Given the description of an element on the screen output the (x, y) to click on. 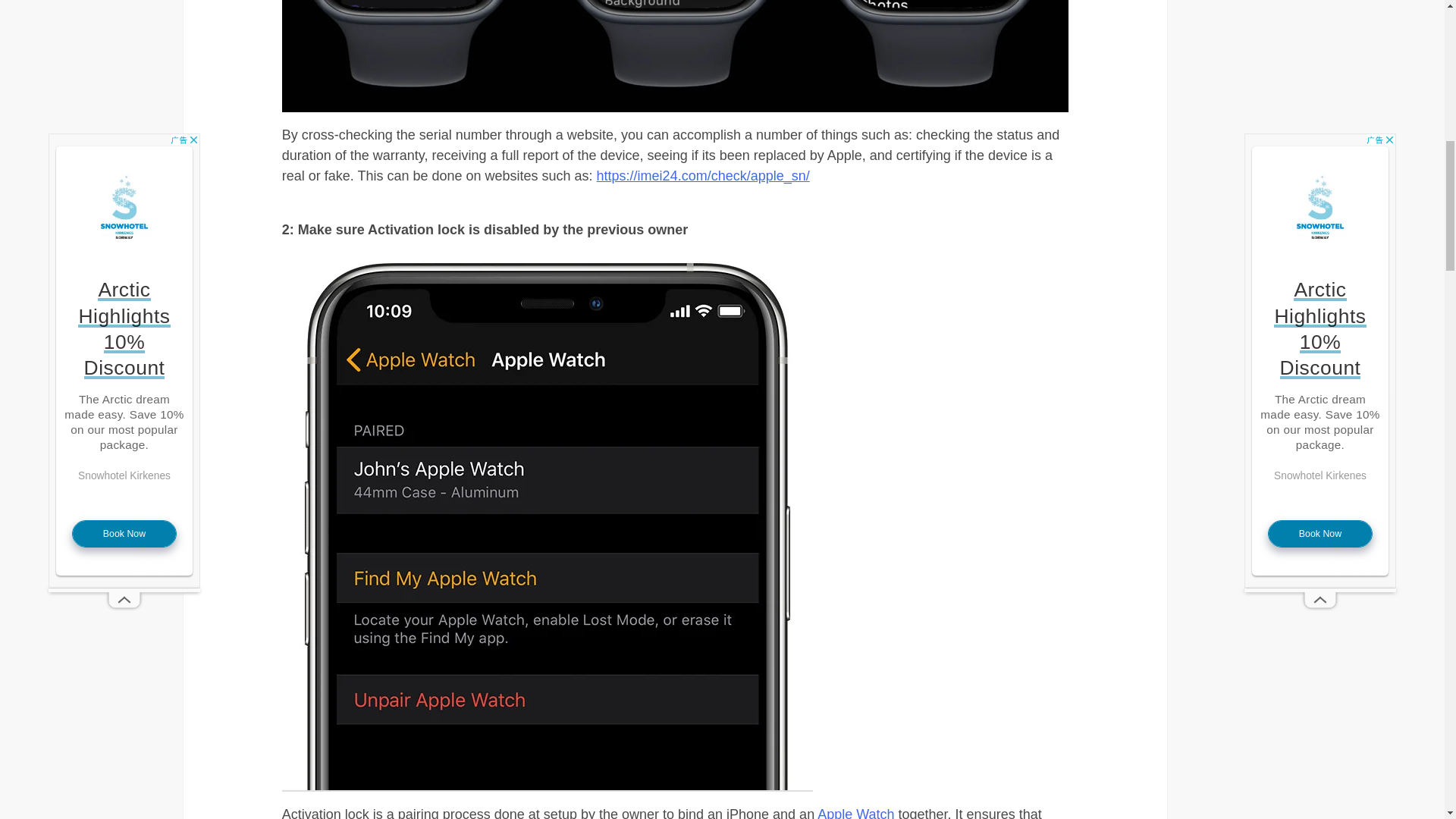
Apple Watch (854, 812)
